Given the description of an element on the screen output the (x, y) to click on. 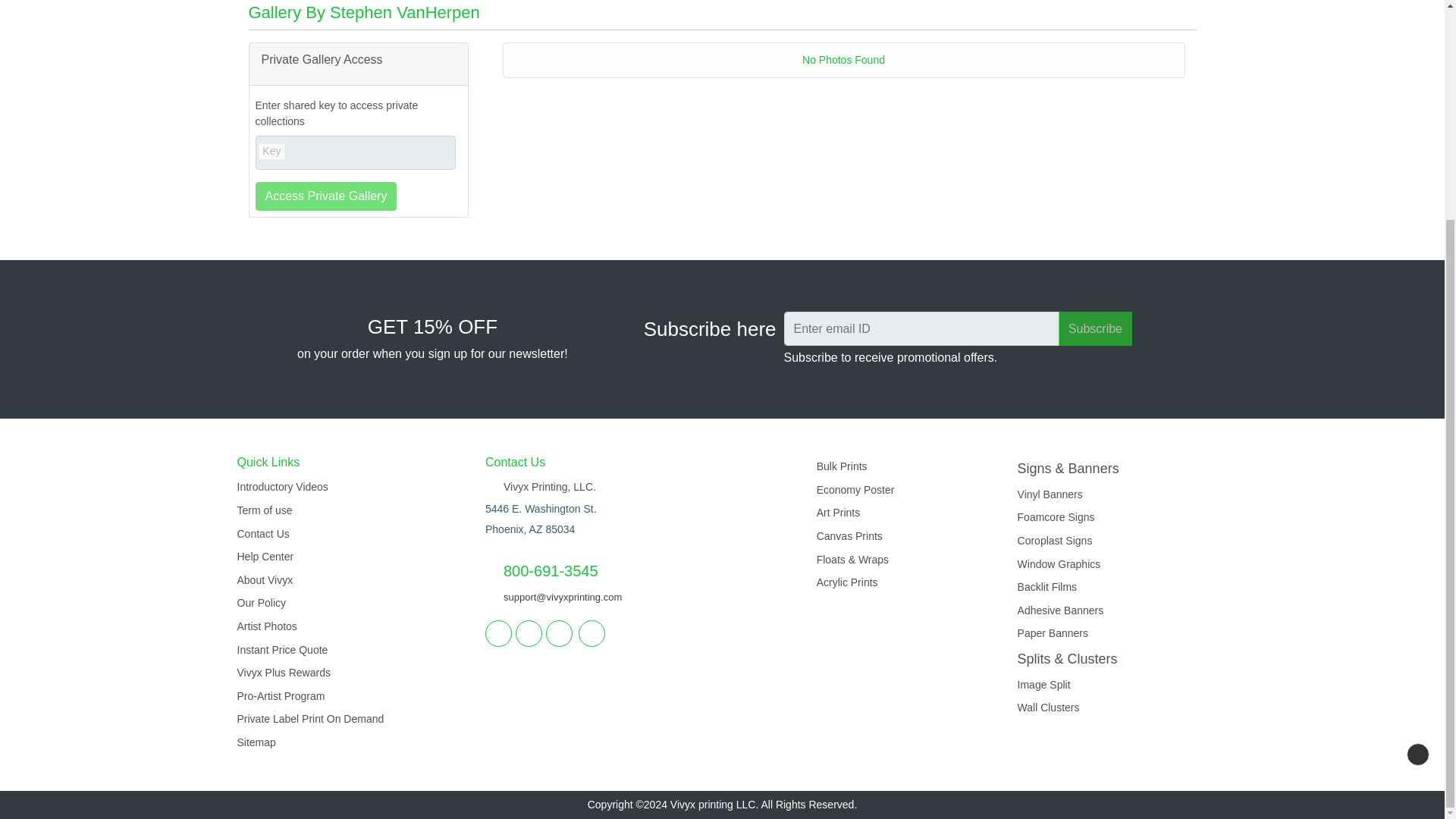
Twitter (528, 633)
Address (539, 487)
Access Private Gallery (325, 195)
facebook (498, 633)
Pinterest (559, 633)
Email (591, 633)
Subscribe (1095, 328)
Call Us : 8006913545 (541, 571)
